Given the description of an element on the screen output the (x, y) to click on. 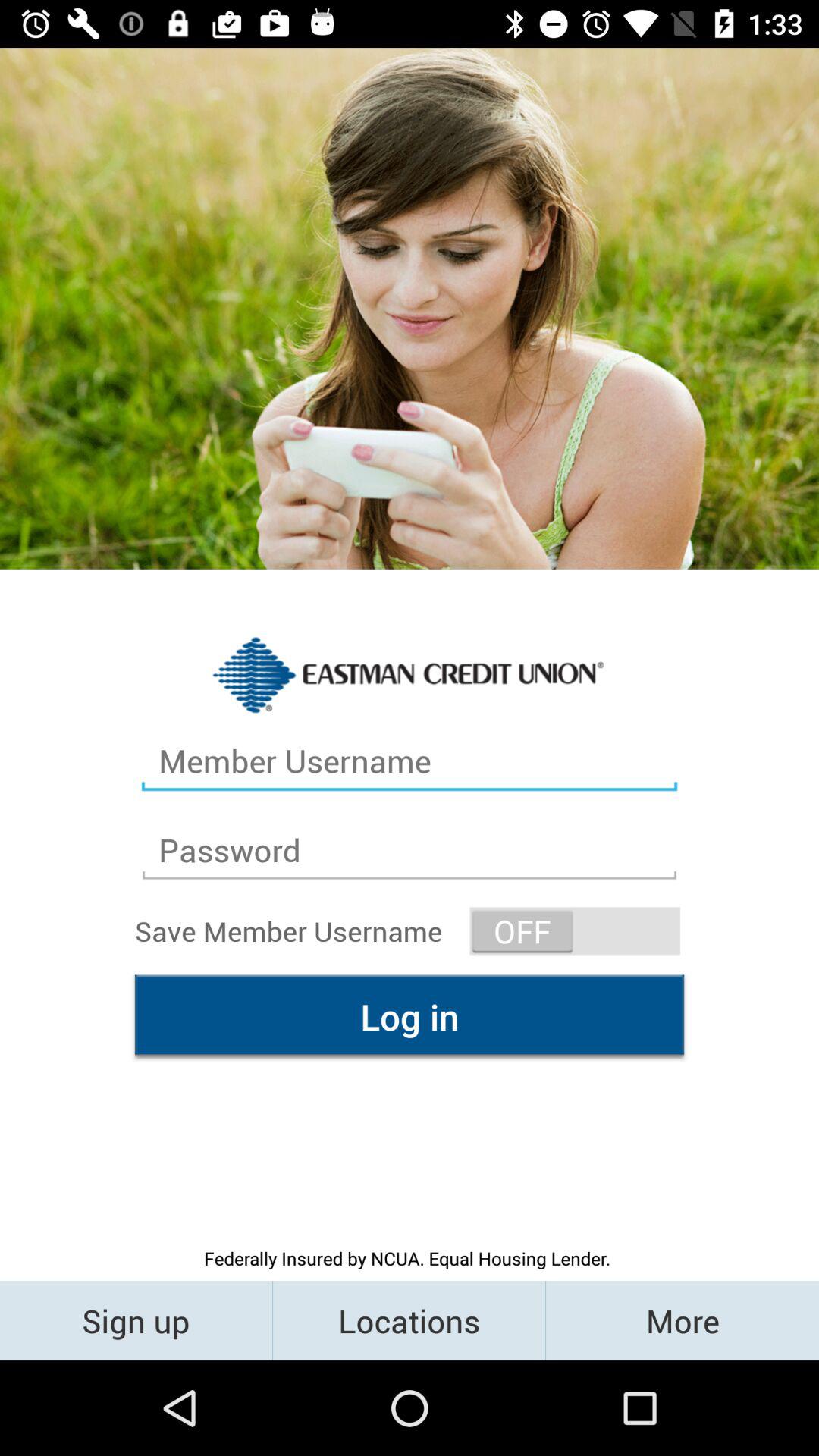
scroll to the sign up (136, 1320)
